Given the description of an element on the screen output the (x, y) to click on. 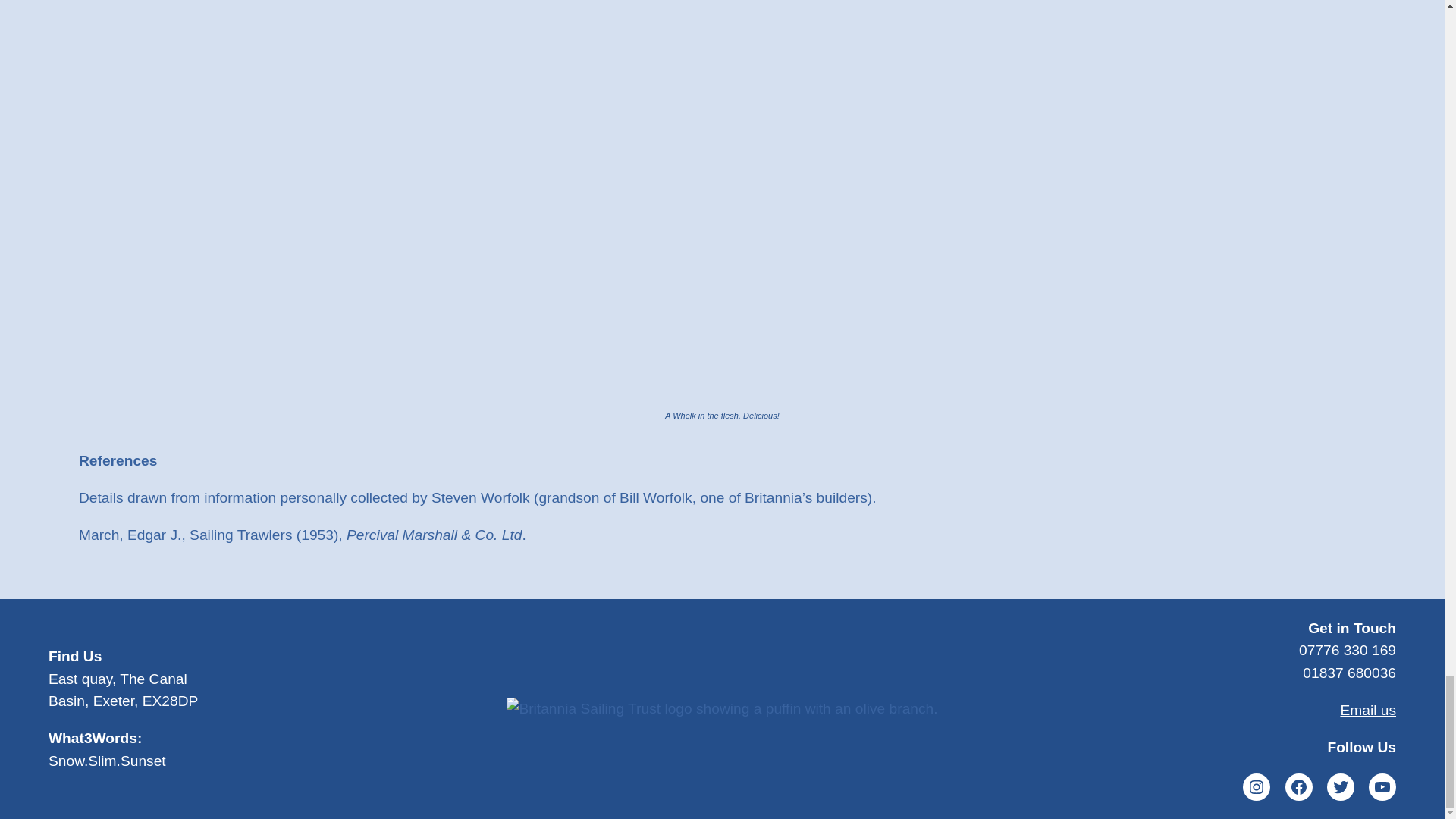
Instagram (1256, 786)
Email us (1367, 709)
Twitter (1340, 786)
Facebook (1299, 786)
YouTube (1382, 786)
